Given the description of an element on the screen output the (x, y) to click on. 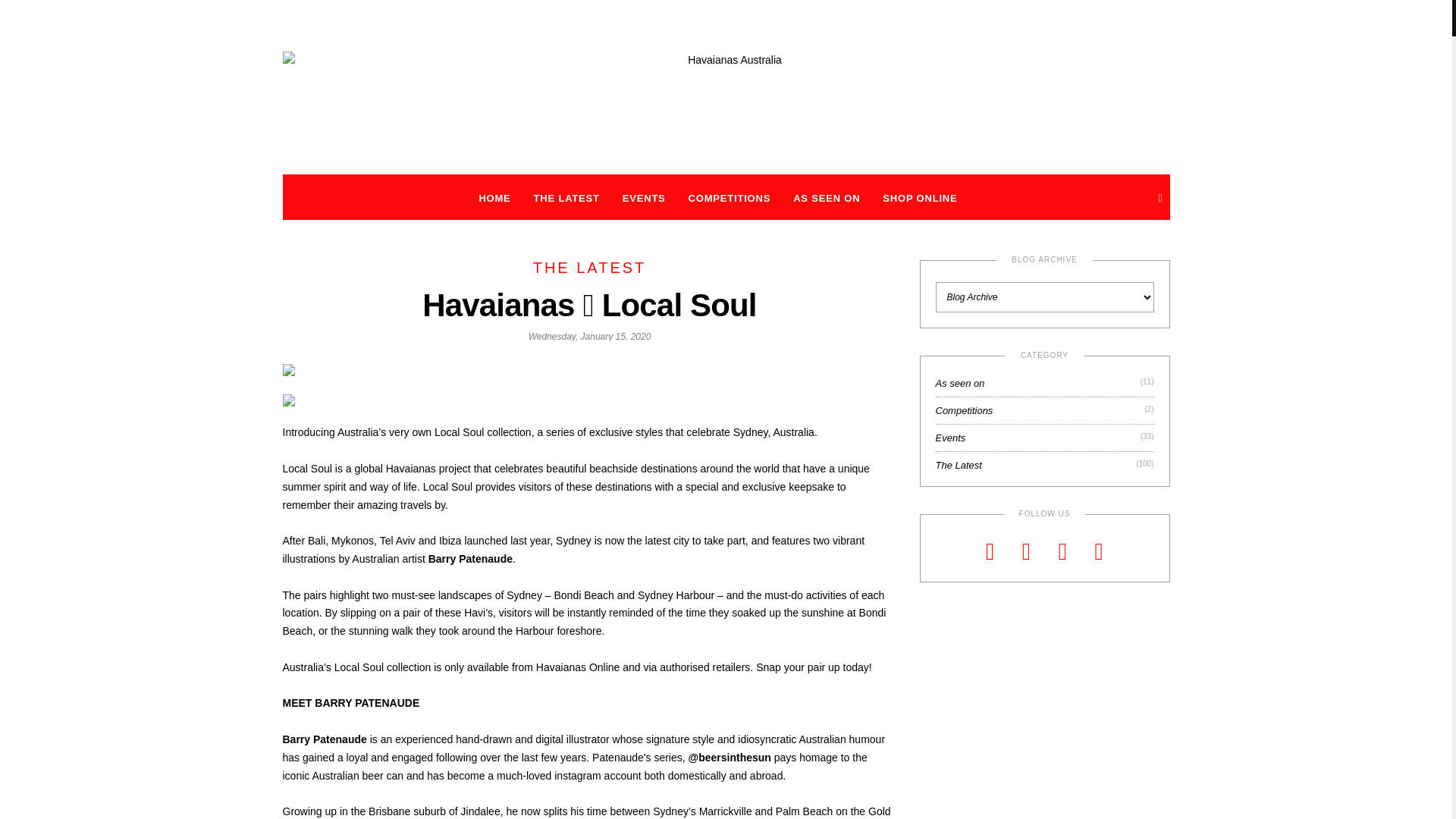
Events Element type: text (950, 437)
HOME Element type: text (494, 198)
COMPETITIONS Element type: text (729, 198)
THE LATEST Element type: text (566, 198)
The Latest Element type: text (958, 464)
Barry Patenaude Element type: text (324, 739)
Competitions Element type: text (964, 410)
Barry Patenaude Element type: text (470, 558)
EVENTS Element type: text (643, 198)
THE LATEST Element type: text (589, 267)
As seen on Element type: text (960, 383)
@beersinthesun Element type: text (729, 757)
AS SEEN ON Element type: text (826, 198)
SHOP ONLINE Element type: text (919, 198)
